Given the description of an element on the screen output the (x, y) to click on. 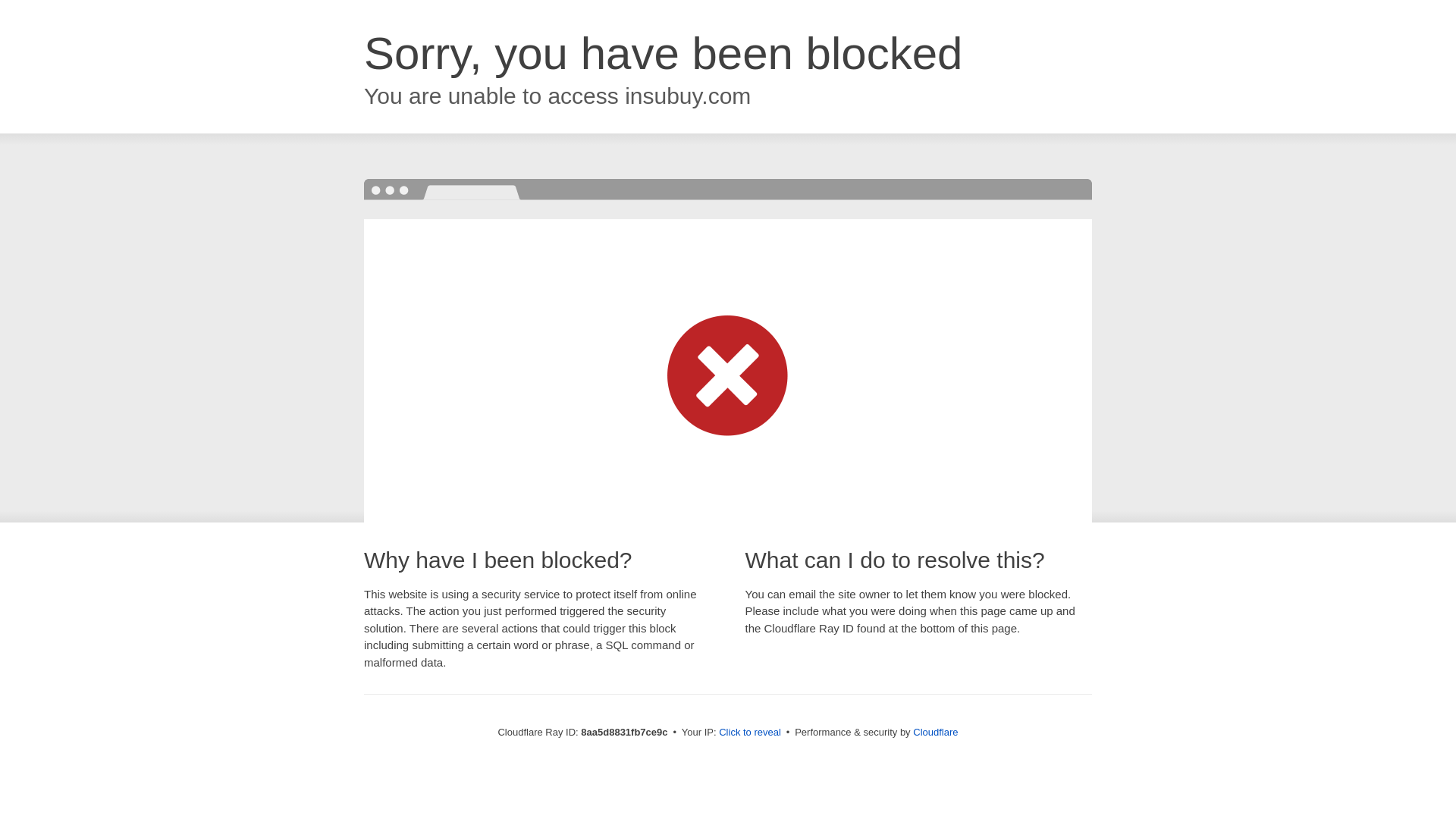
Click to reveal (749, 732)
Cloudflare (935, 731)
